Given the description of an element on the screen output the (x, y) to click on. 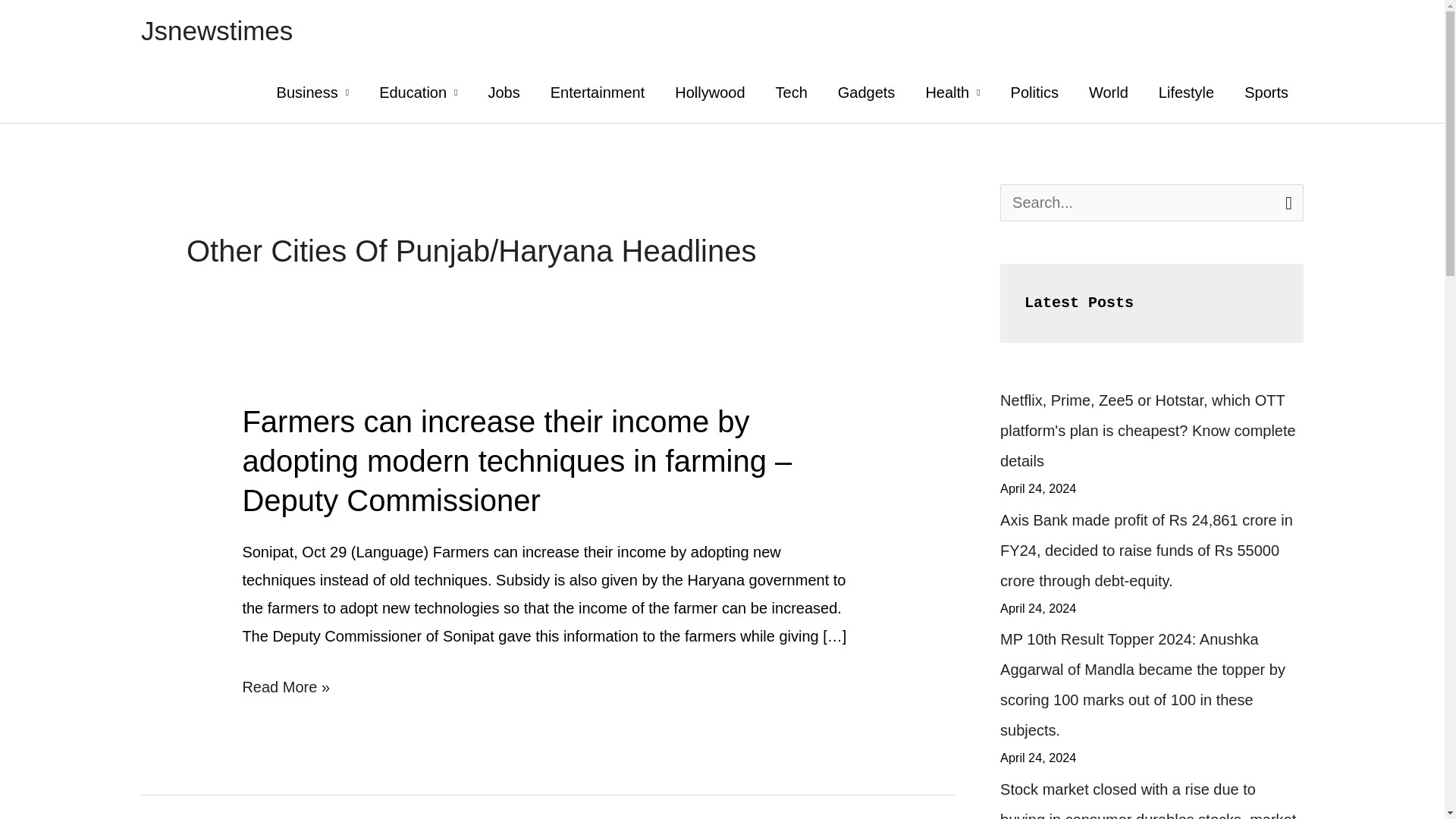
Jsnewstimes (216, 30)
Search (1286, 201)
Education (417, 92)
Sports (1265, 92)
Business (313, 92)
Tech (791, 92)
Politics (1034, 92)
Search (1286, 201)
Entertainment (598, 92)
Lifestyle (1185, 92)
Hollywood (709, 92)
